Given the description of an element on the screen output the (x, y) to click on. 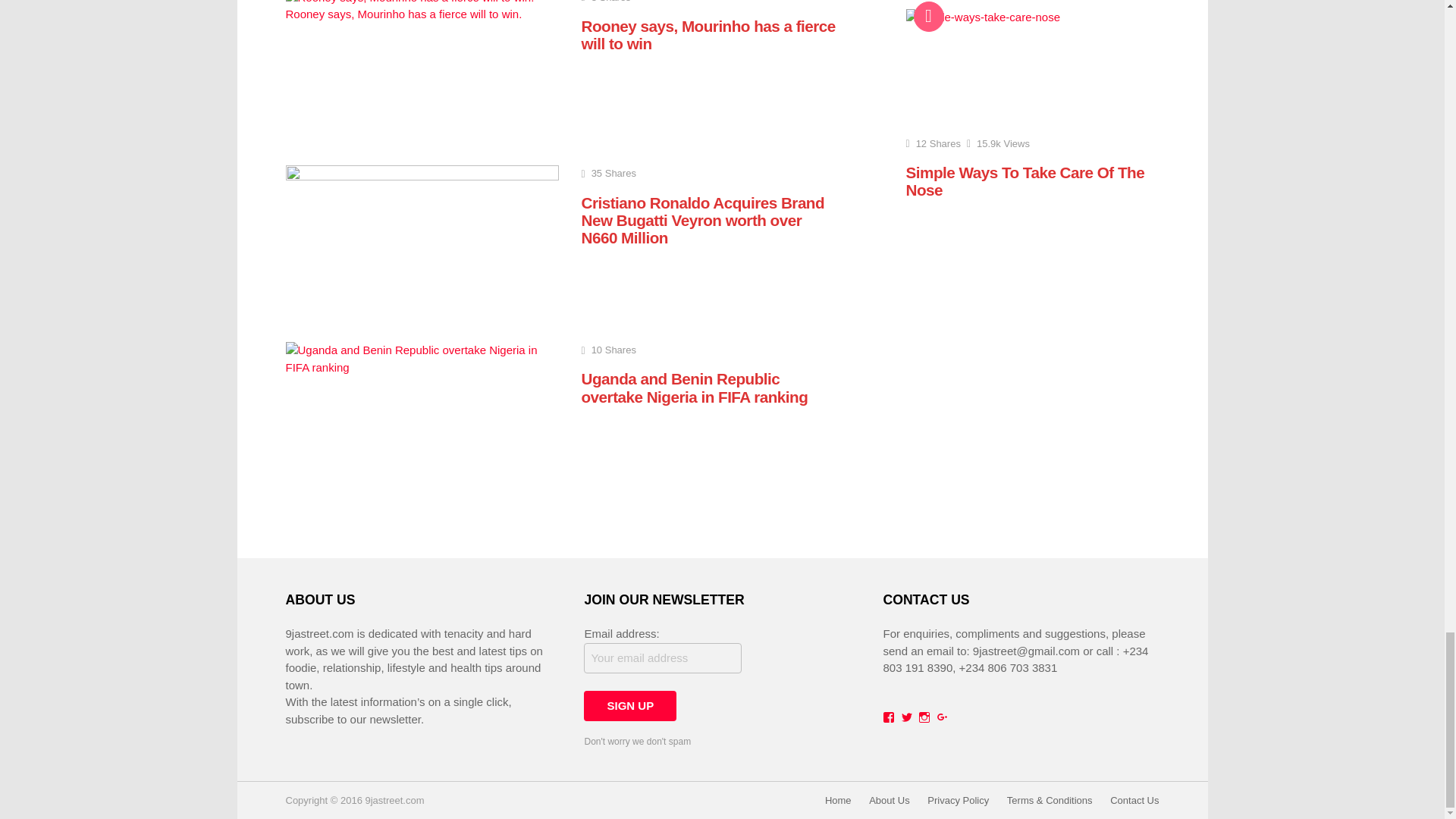
Sign up (630, 706)
